Given the description of an element on the screen output the (x, y) to click on. 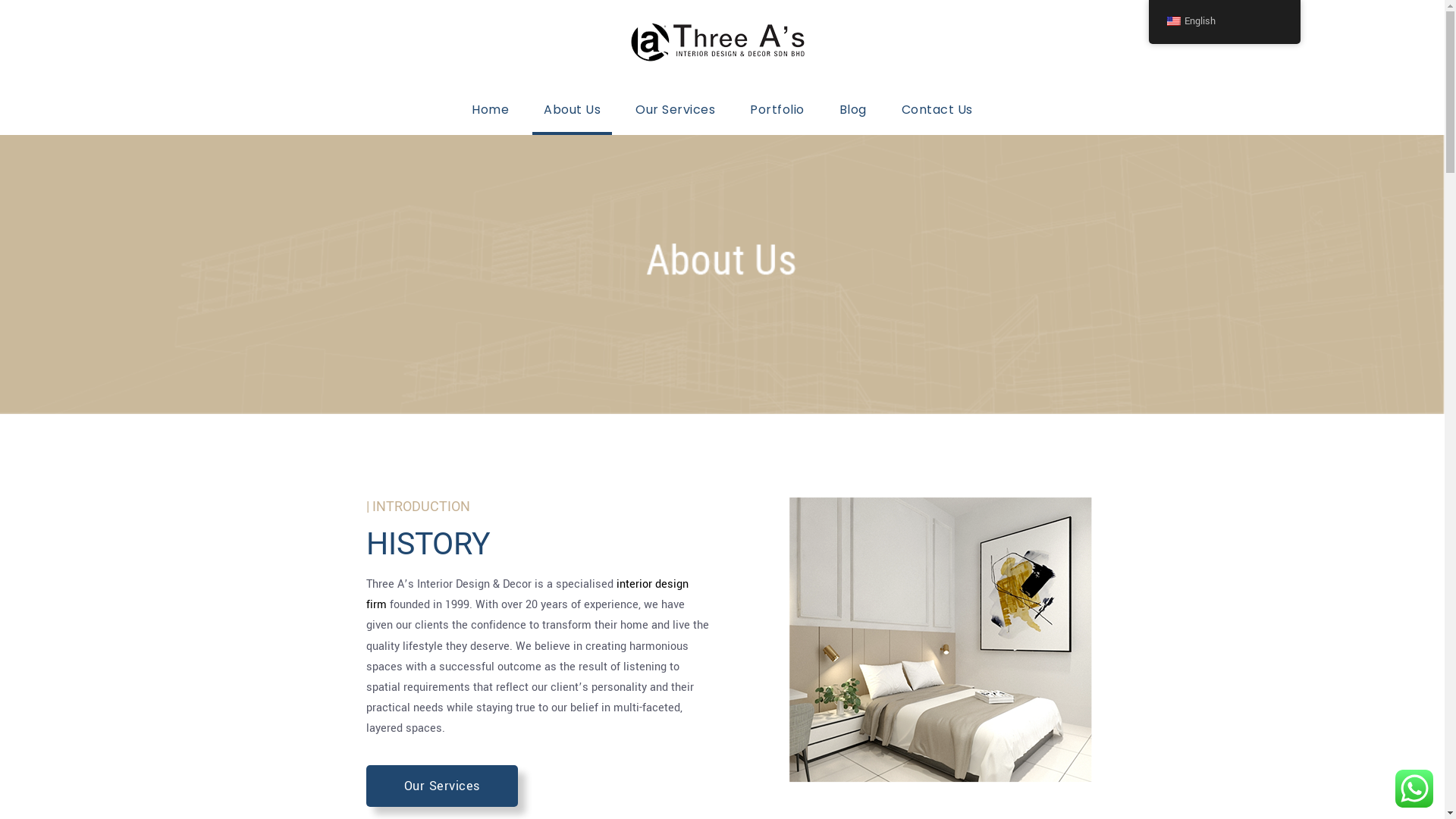
interior design firm Element type: text (526, 594)
English Element type: text (1223, 20)
Our Services Element type: text (675, 116)
About Us Element type: text (571, 116)
Home Element type: text (489, 116)
English Element type: text (1223, 21)
Our Services Element type: text (441, 785)
Blog Element type: text (852, 116)
Portfolio Element type: text (776, 116)
Contact Us Element type: text (936, 116)
